Given the description of an element on the screen output the (x, y) to click on. 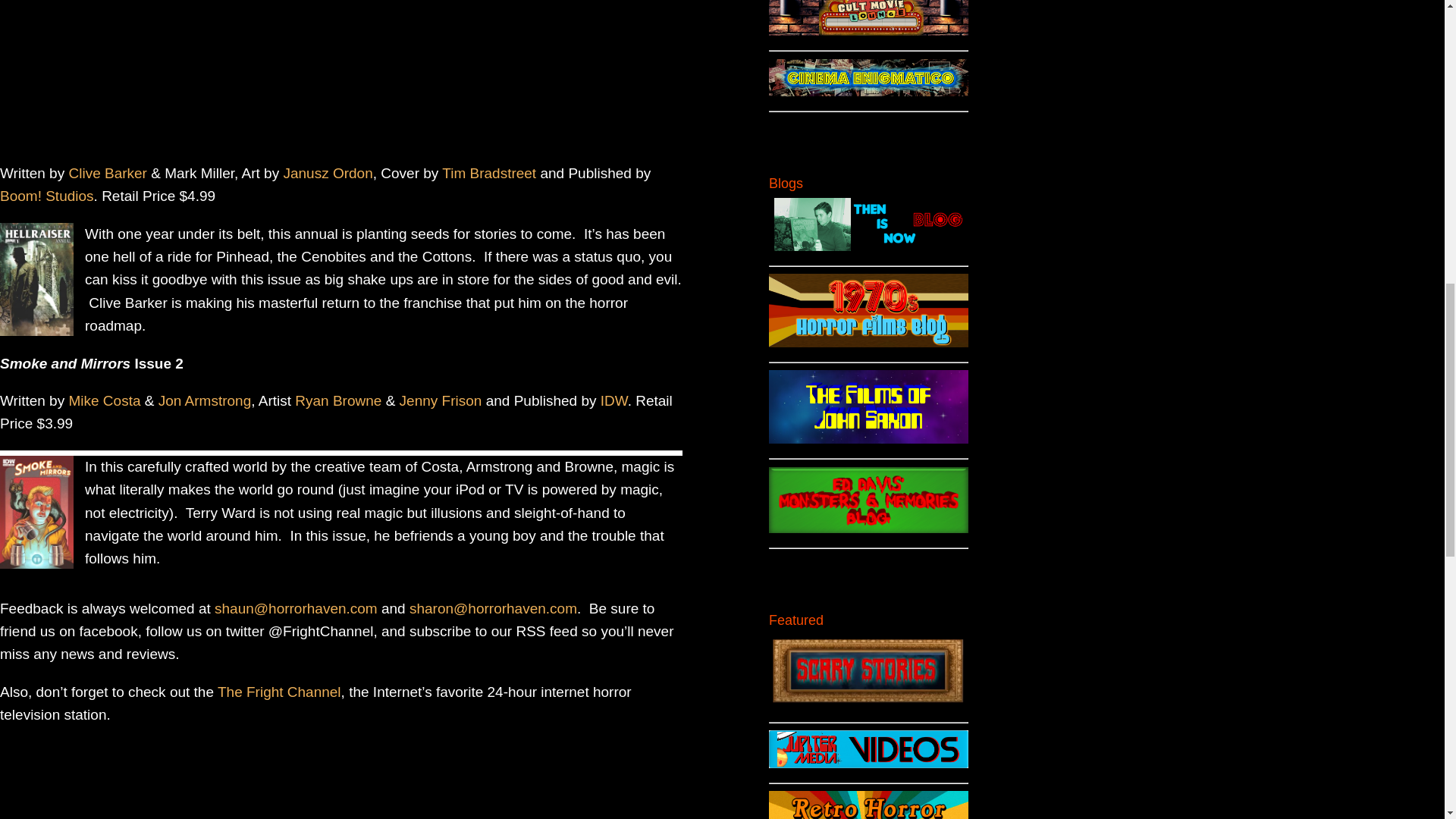
Advertisement (341, 78)
